Given the description of an element on the screen output the (x, y) to click on. 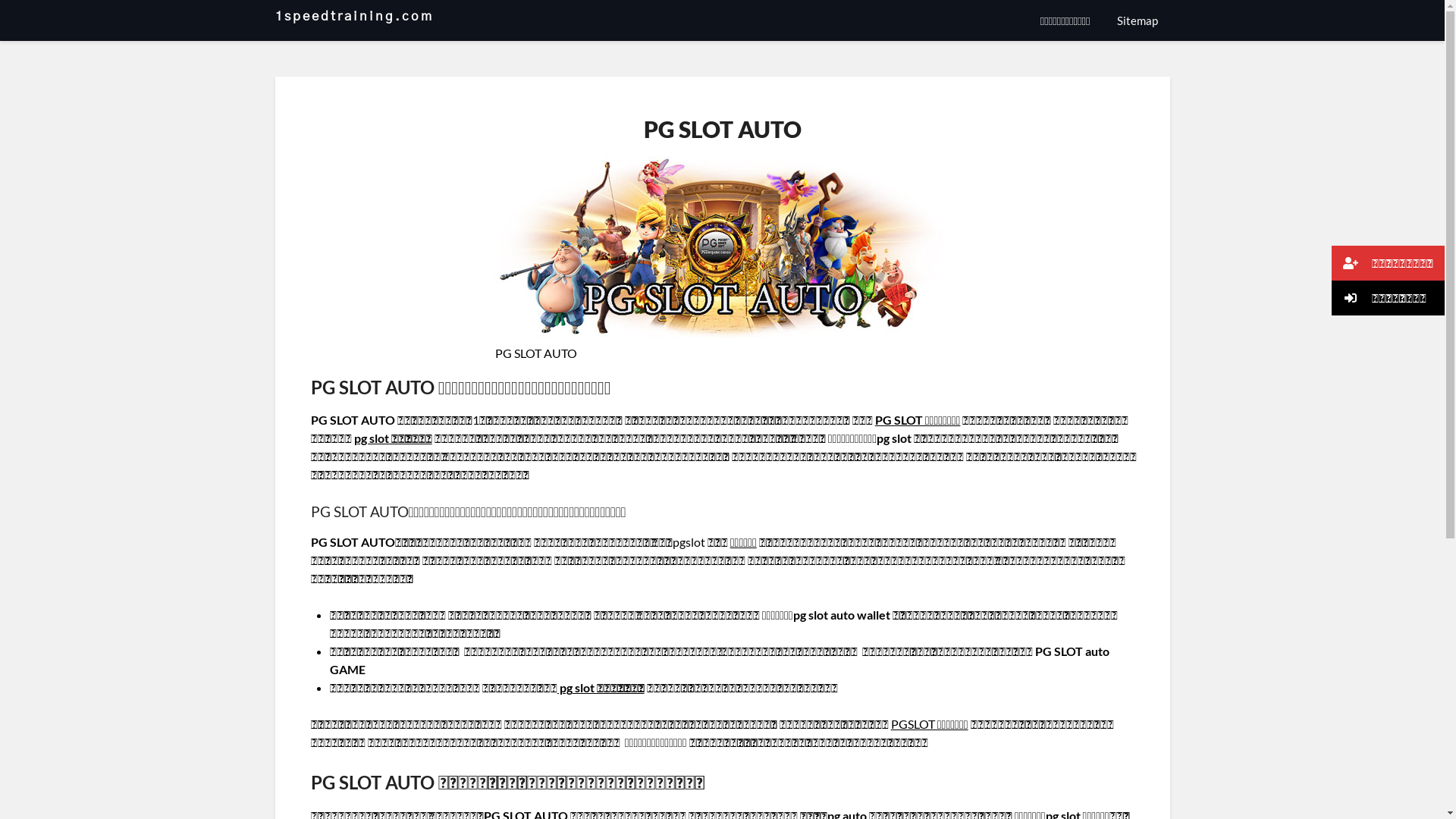
1speedtraining.com Element type: text (353, 16)
Sitemap Element type: text (1136, 20)
